Given the description of an element on the screen output the (x, y) to click on. 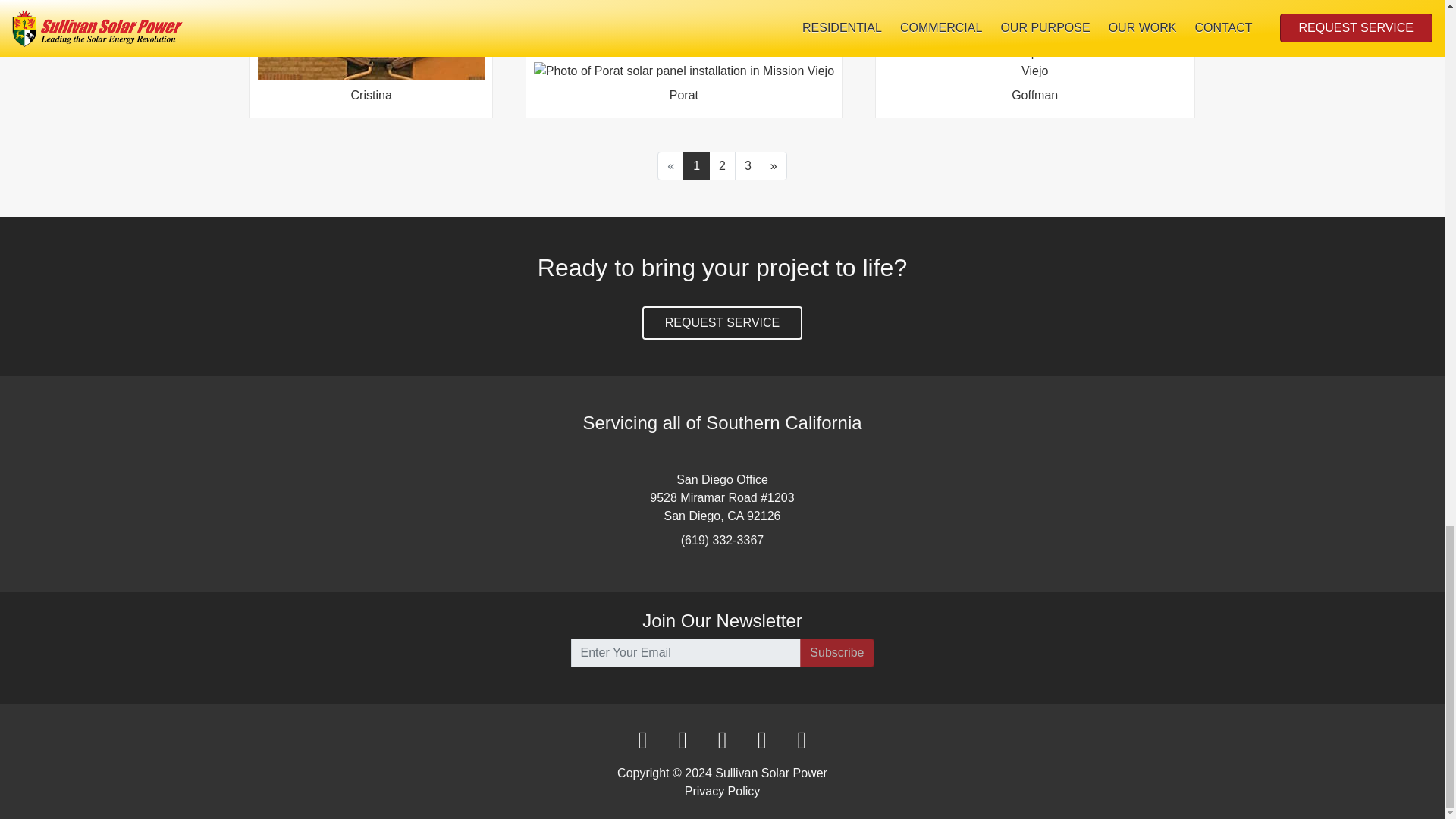
Goffman (1034, 82)
Porat (684, 86)
2 (722, 165)
Cristina (370, 55)
